Given the description of an element on the screen output the (x, y) to click on. 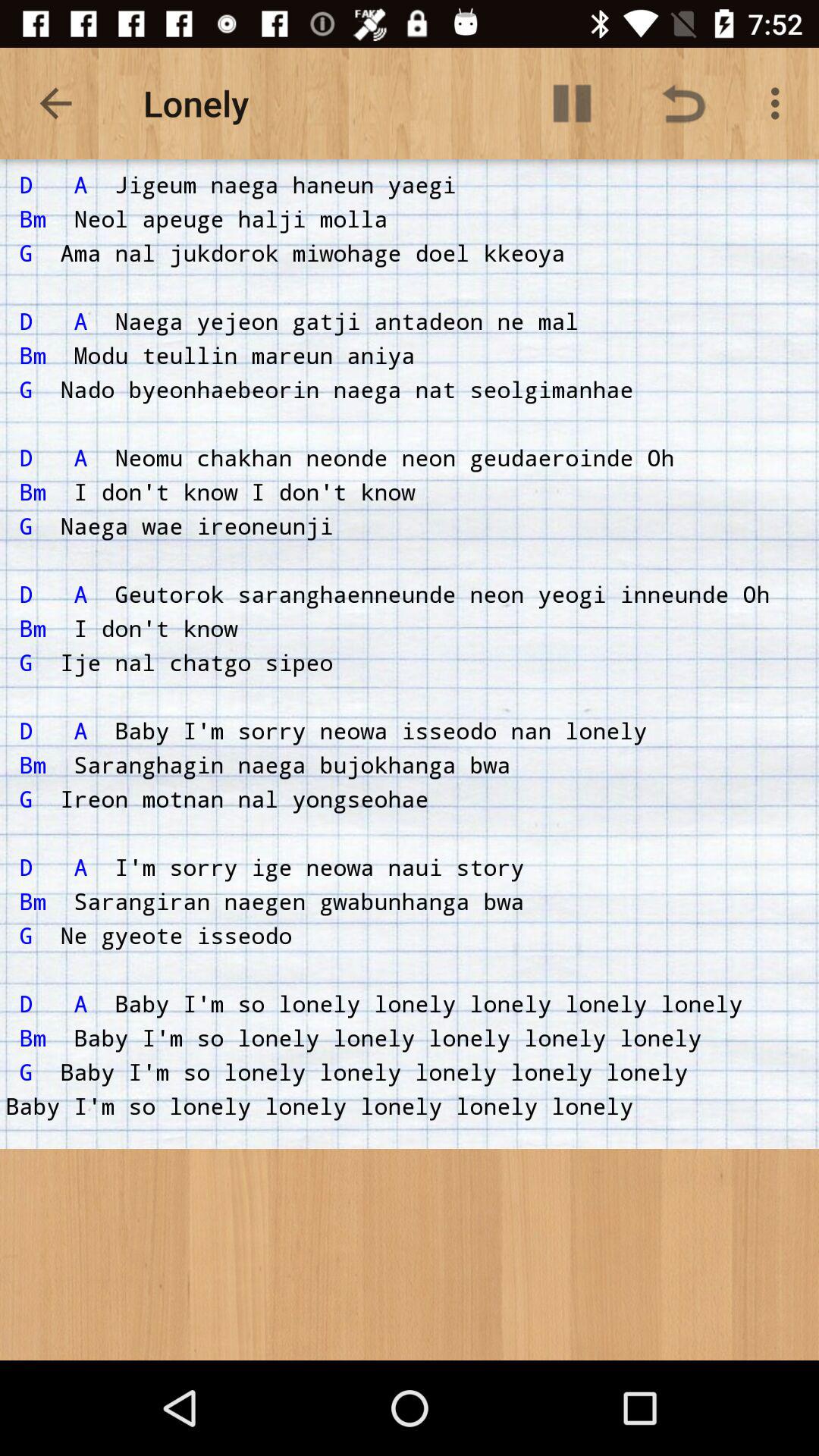
open the icon to the left of lonely (55, 103)
